Given the description of an element on the screen output the (x, y) to click on. 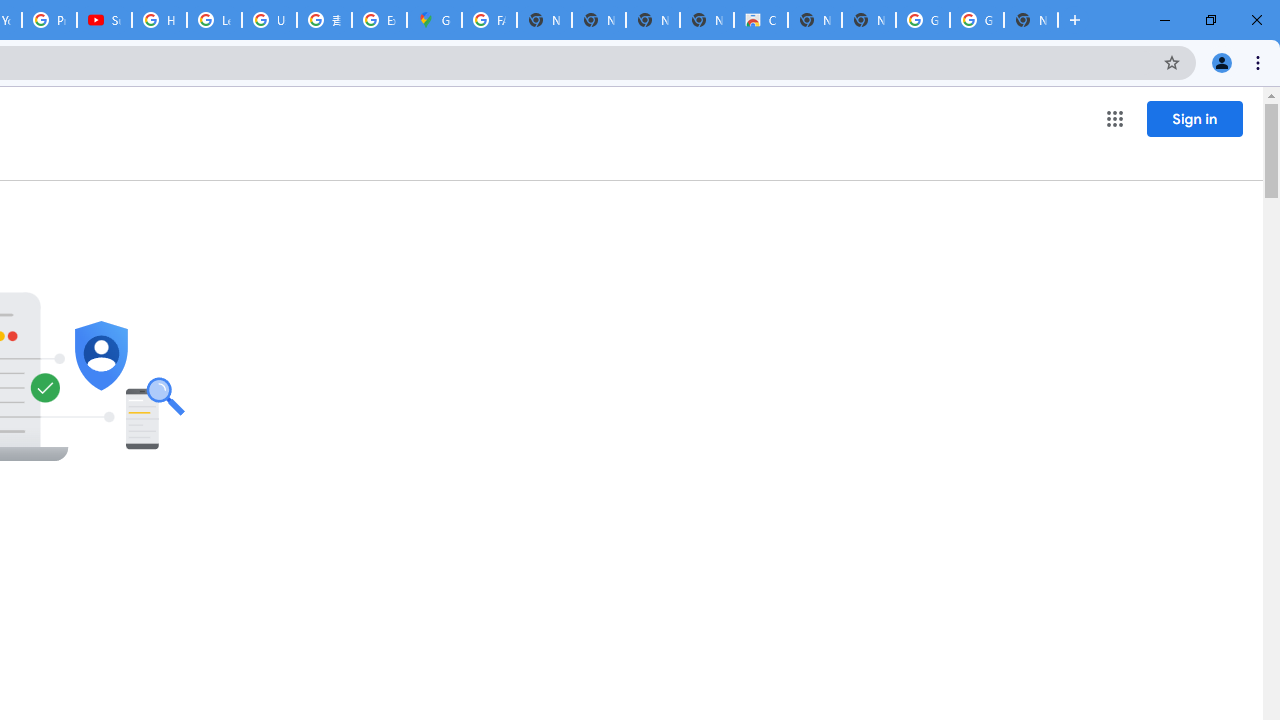
Google Images (922, 20)
Chrome Web Store (760, 20)
